Given the description of an element on the screen output the (x, y) to click on. 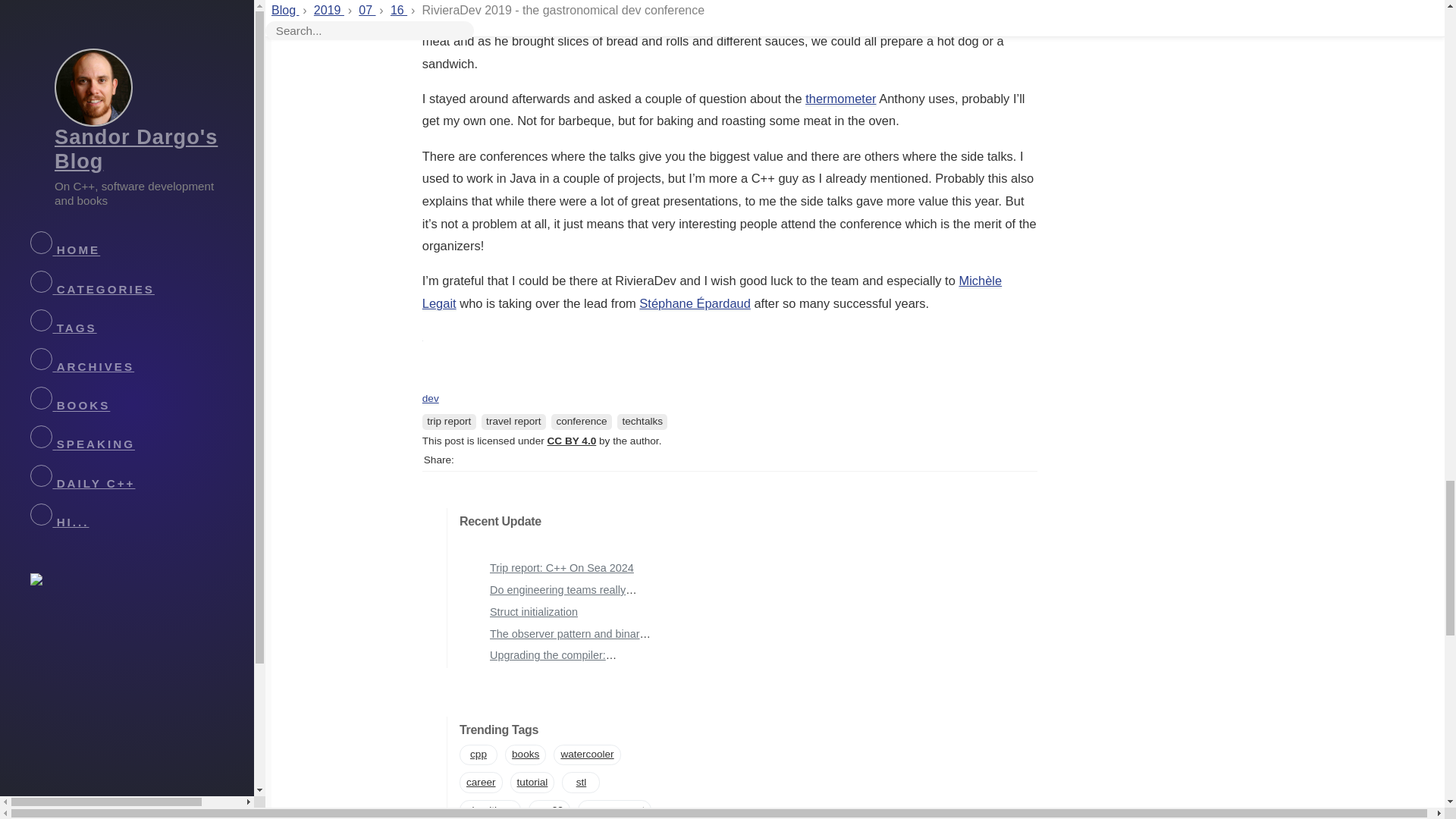
dev (430, 398)
thermometer (840, 98)
